Given the description of an element on the screen output the (x, y) to click on. 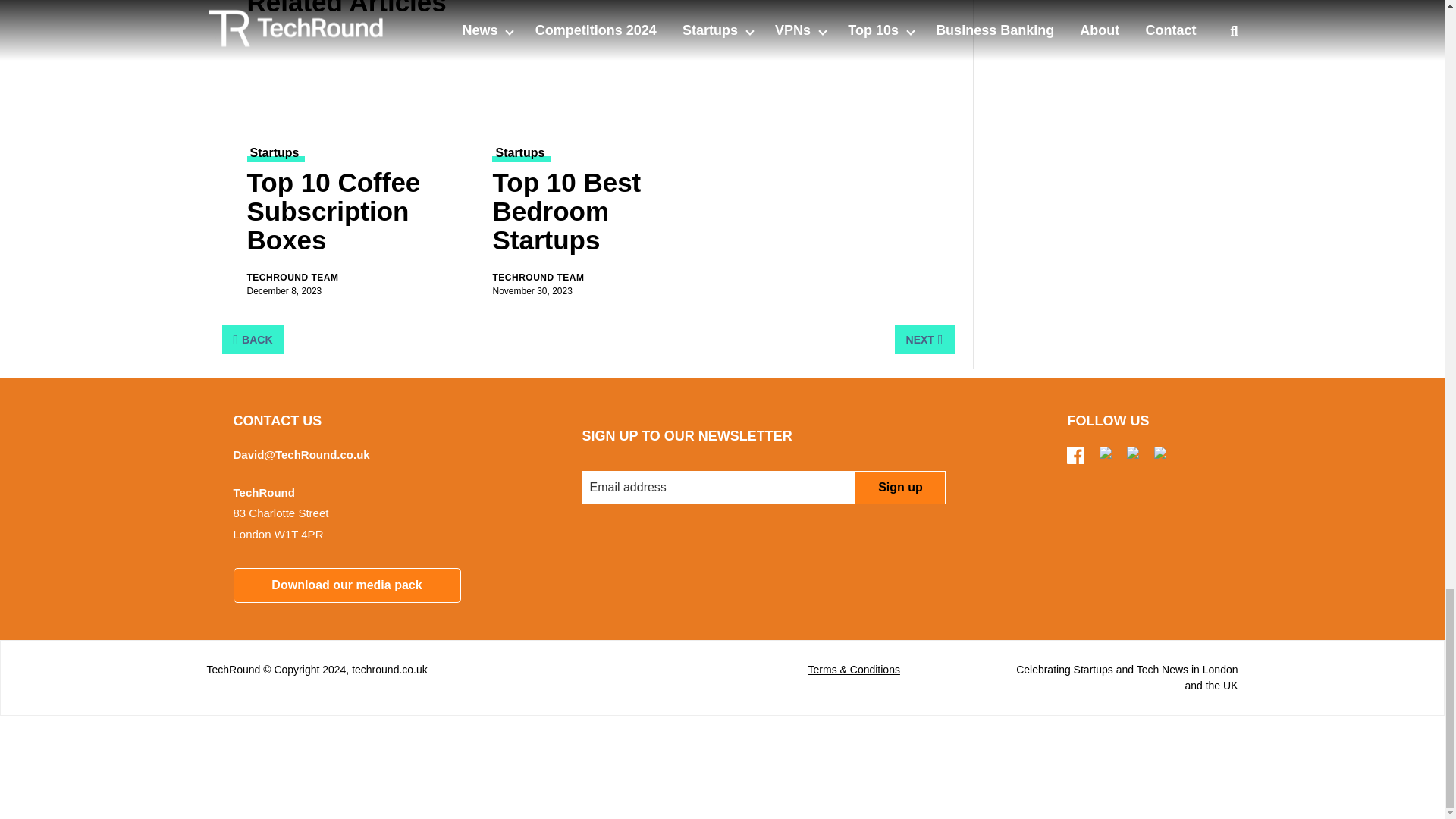
Sign up (899, 487)
Top 10 Coffee Subscription Boxes (360, 83)
Top 10 Coffee Subscription Boxes (360, 214)
